Given the description of an element on the screen output the (x, y) to click on. 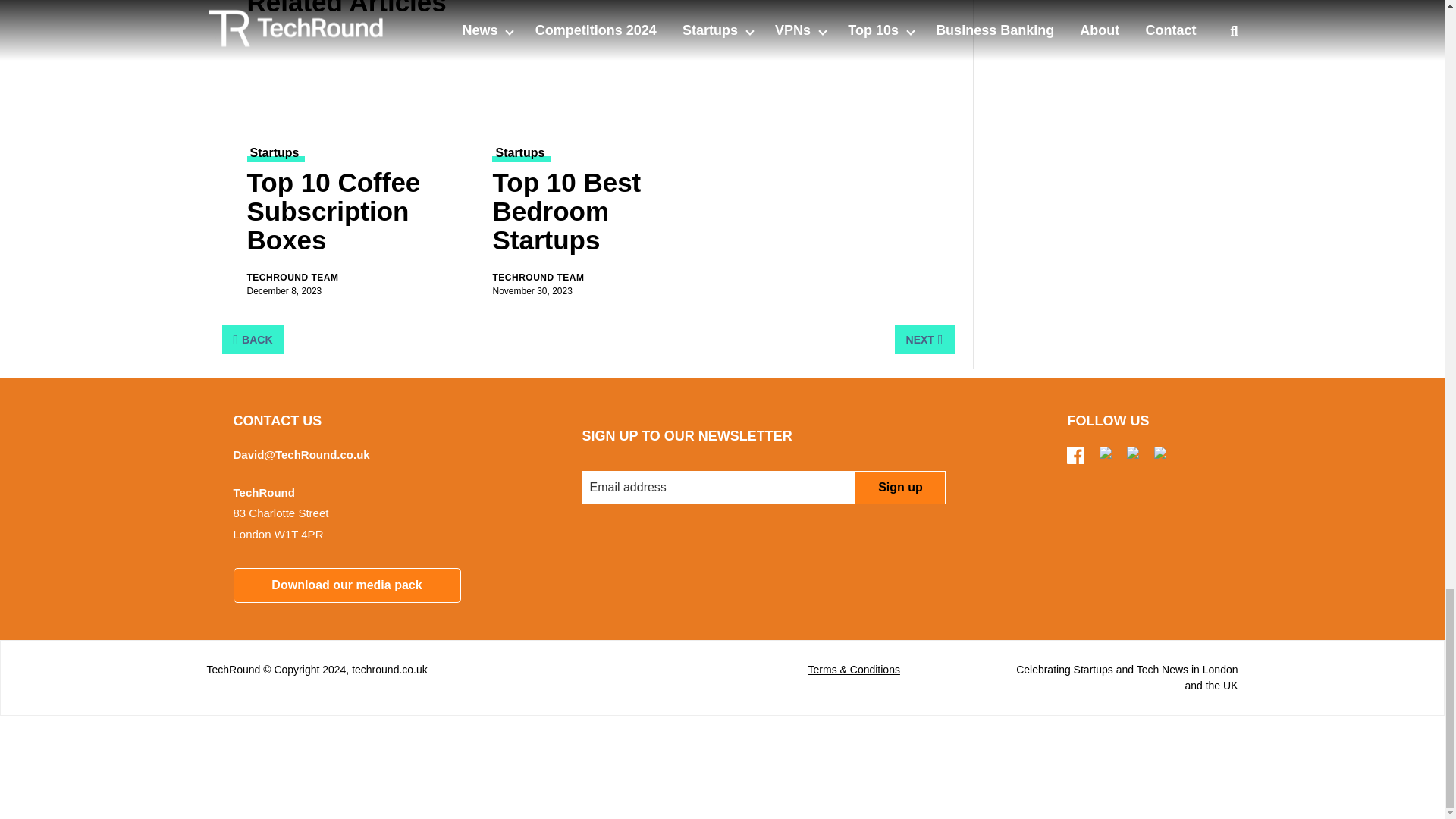
Sign up (899, 487)
Top 10 Coffee Subscription Boxes (360, 83)
Top 10 Coffee Subscription Boxes (360, 214)
